Given the description of an element on the screen output the (x, y) to click on. 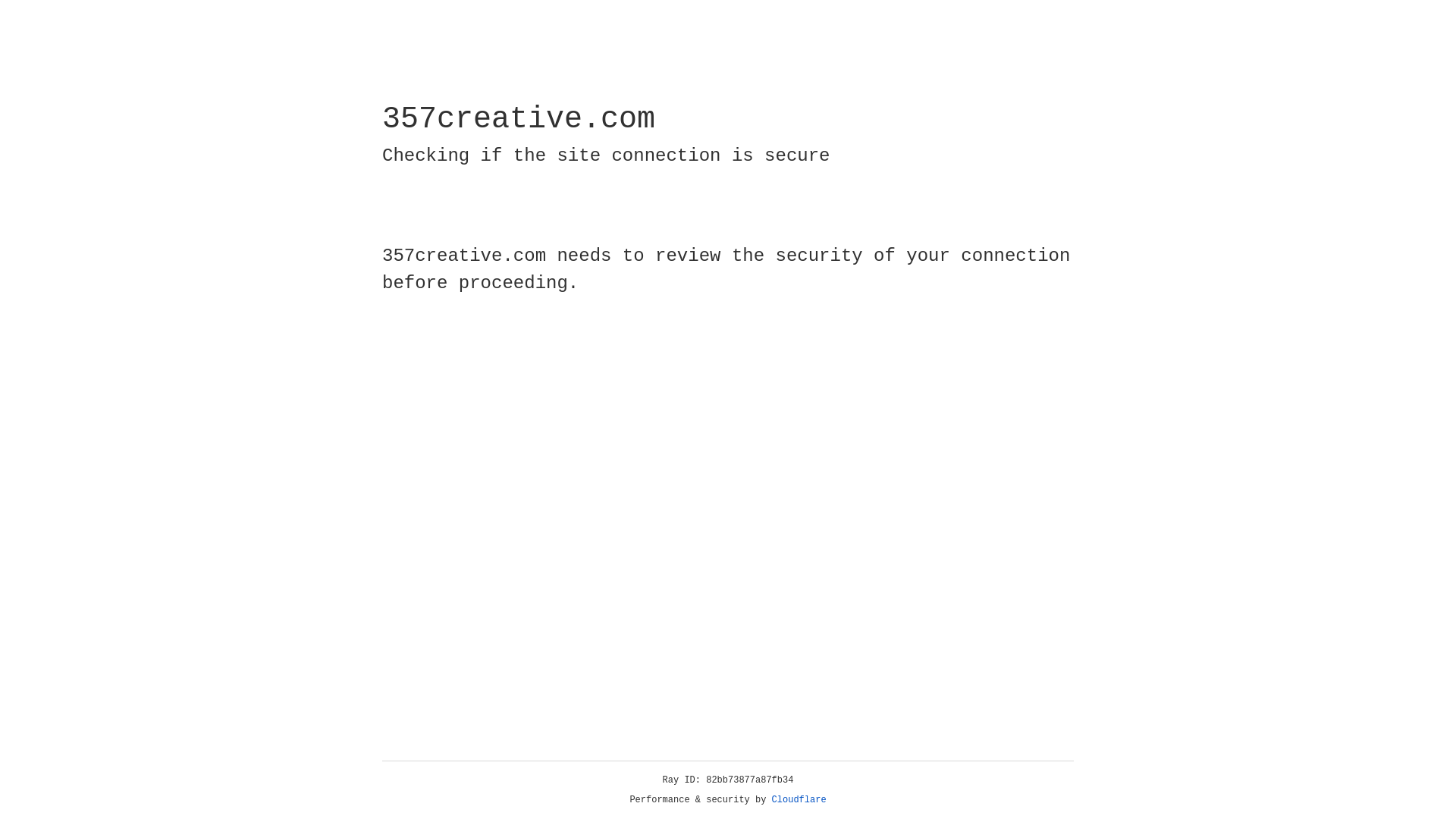
Cloudflare Element type: text (798, 799)
